Given the description of an element on the screen output the (x, y) to click on. 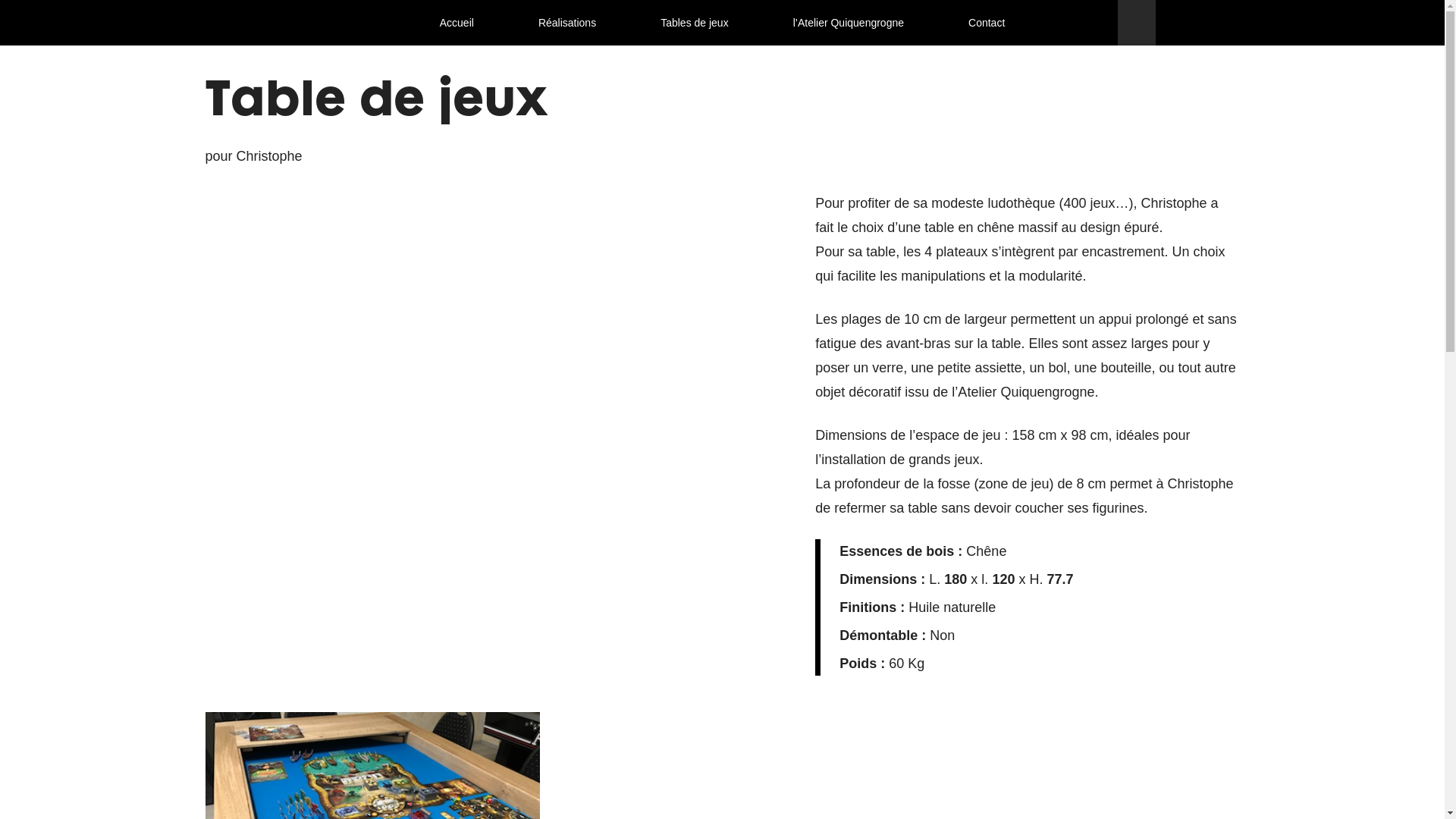
Accueil Element type: text (456, 22)
Contact Element type: text (986, 22)
Tables de jeux Element type: text (694, 22)
